Given the description of an element on the screen output the (x, y) to click on. 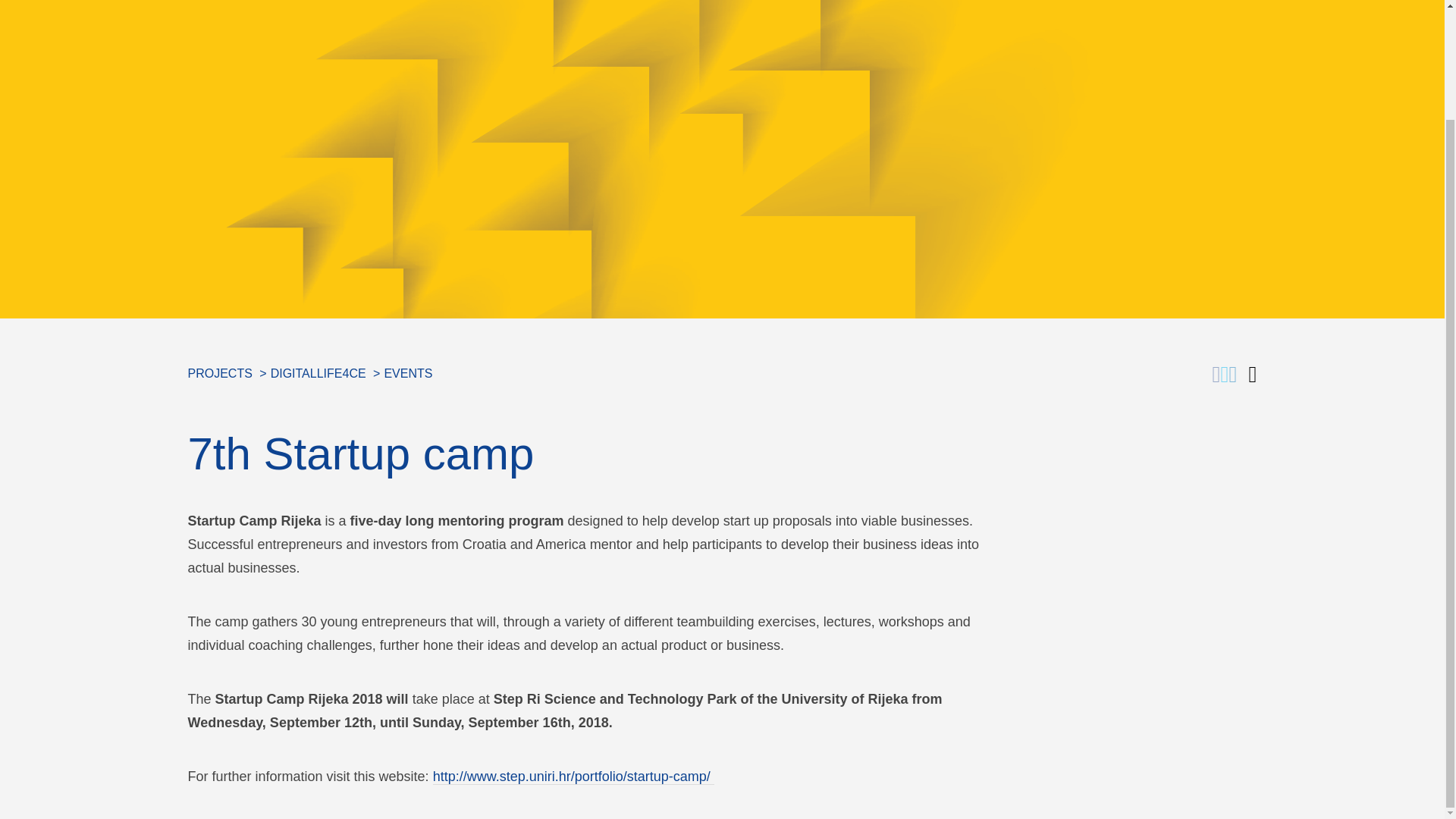
Events (408, 373)
DIGITALLIFE4CE (318, 373)
EVENTS (408, 373)
Projects (219, 373)
PROJECTS (219, 373)
digitalLIFE4CE (318, 373)
